Given the description of an element on the screen output the (x, y) to click on. 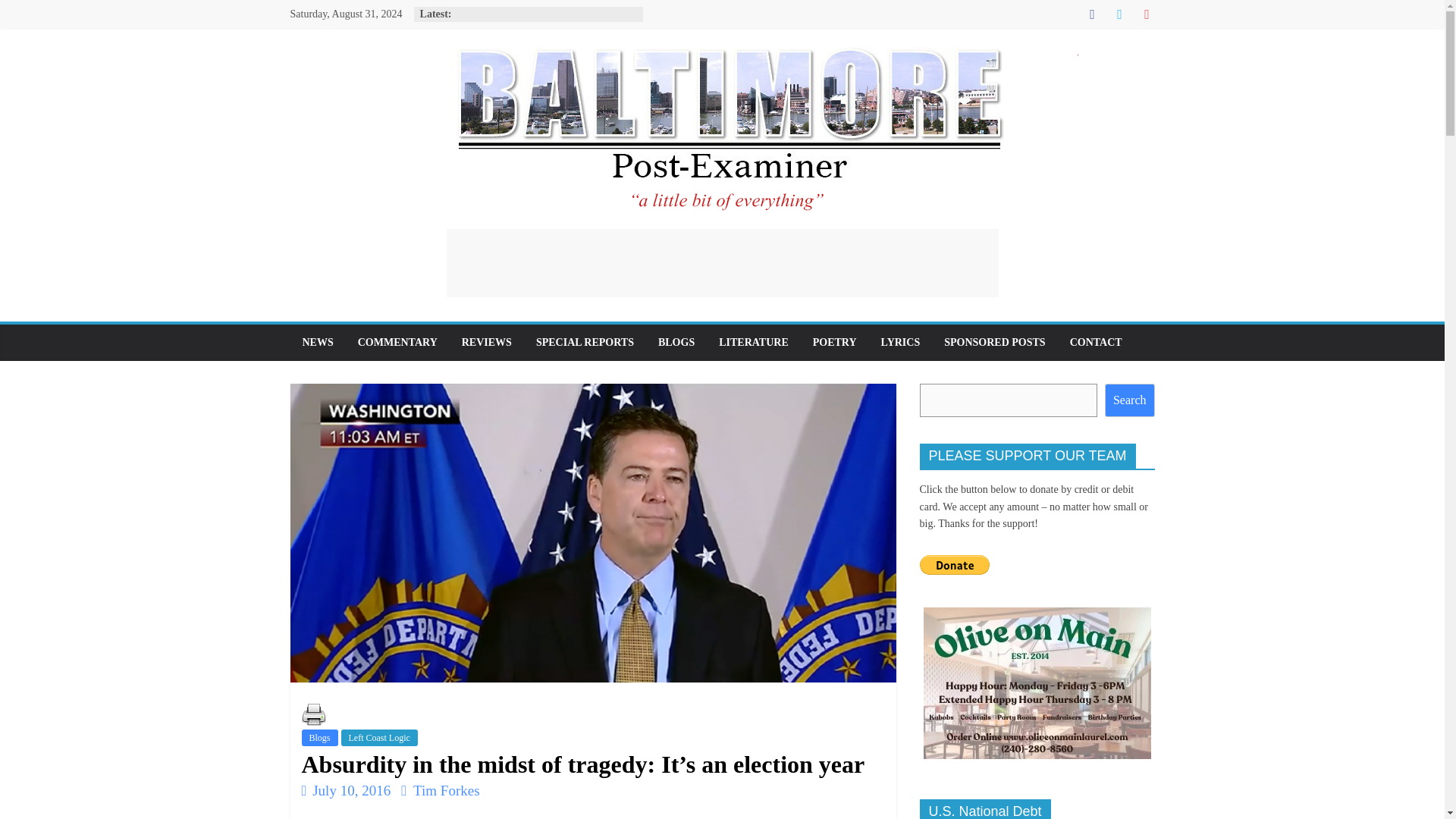
REVIEWS (486, 342)
5:01 PM (346, 790)
Blogs (319, 737)
BLOGS (676, 342)
CONTACT (1096, 342)
COMMENTARY (397, 342)
LYRICS (901, 342)
July 10, 2016 (346, 790)
NEWS (317, 342)
Search (1129, 400)
